Given the description of an element on the screen output the (x, y) to click on. 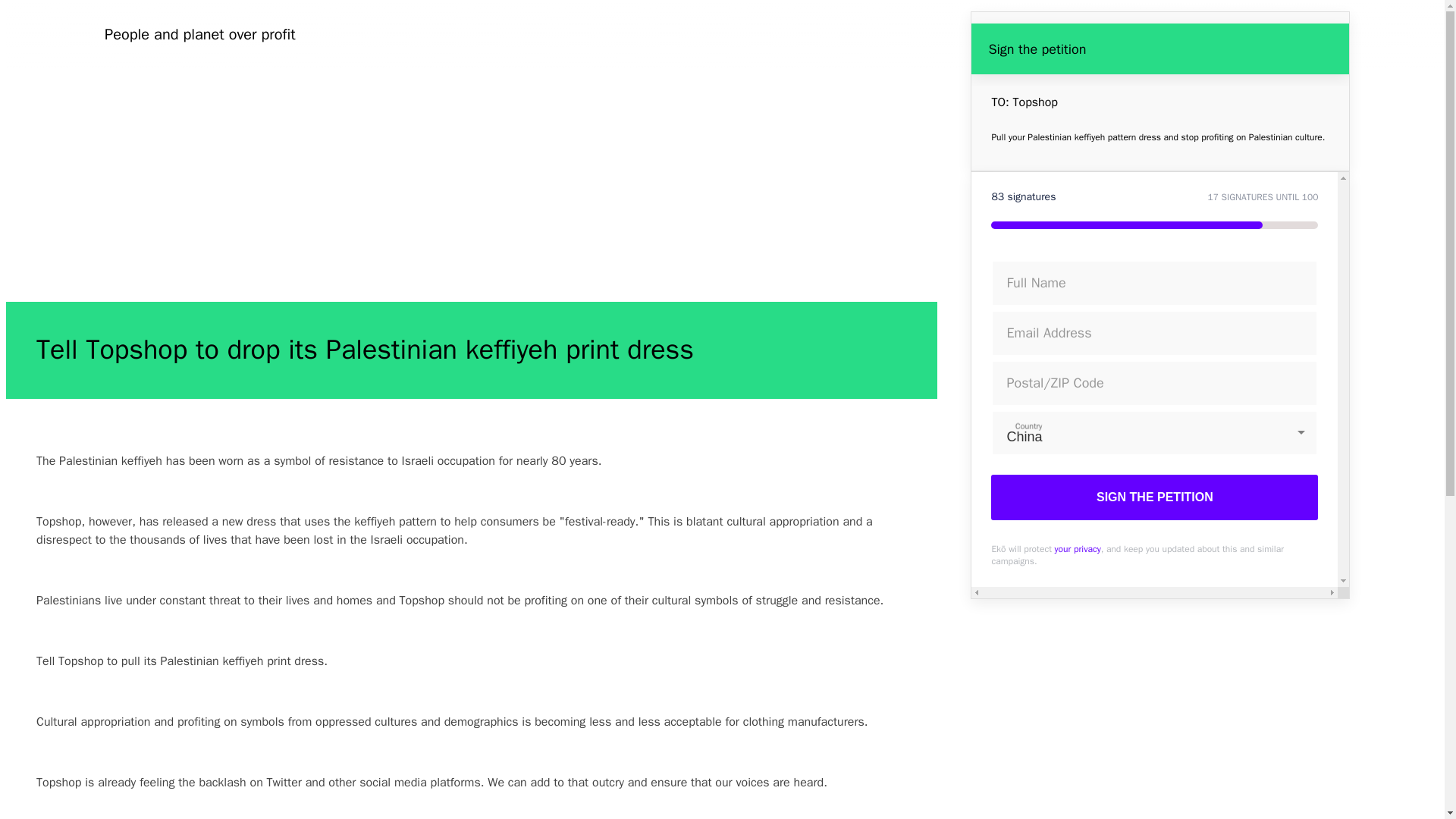
SIGN THE PETITION (1154, 497)
your privacy (1077, 548)
